Given the description of an element on the screen output the (x, y) to click on. 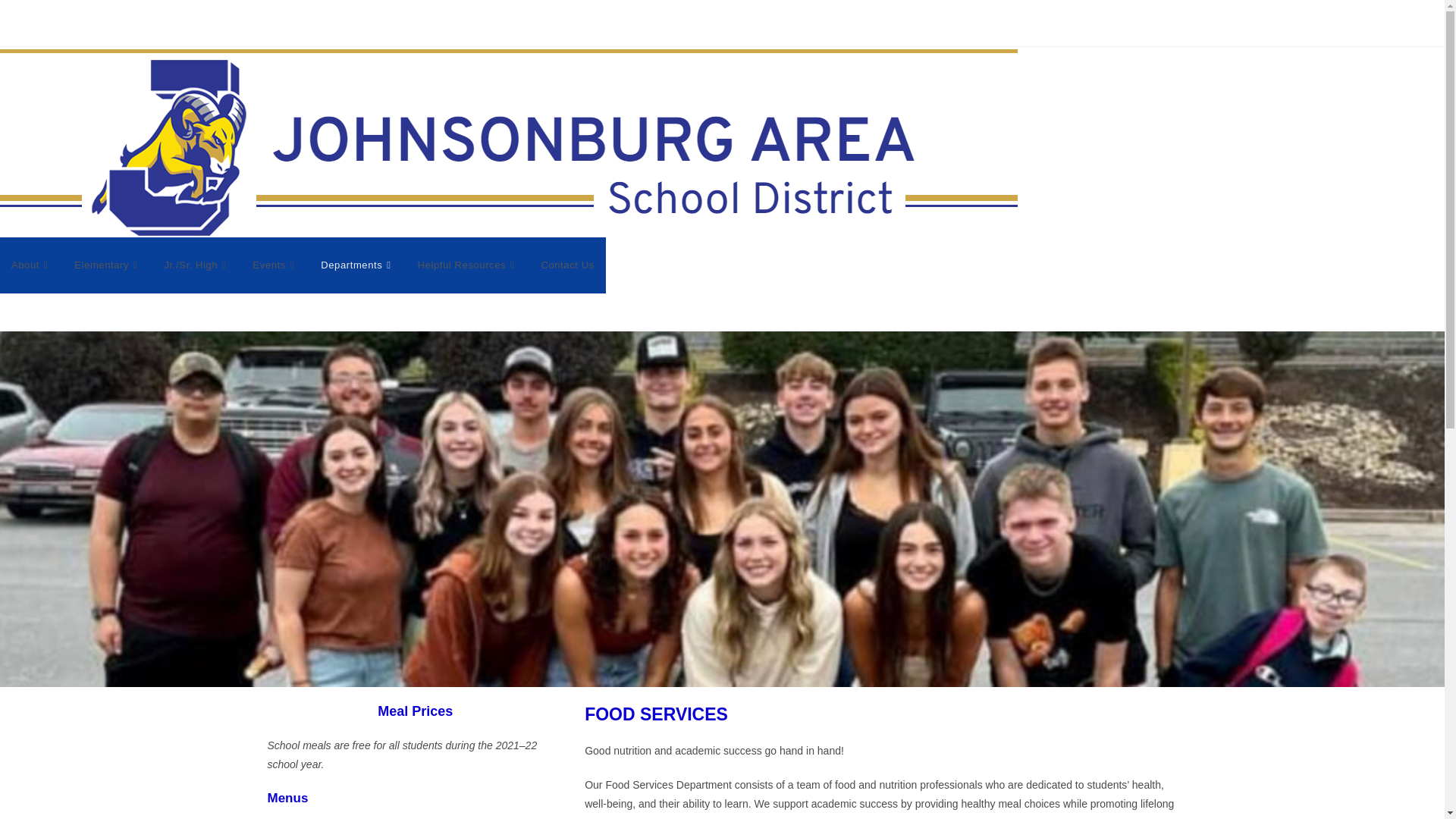
Students (674, 22)
Staff (756, 22)
Parents (580, 22)
